Given the description of an element on the screen output the (x, y) to click on. 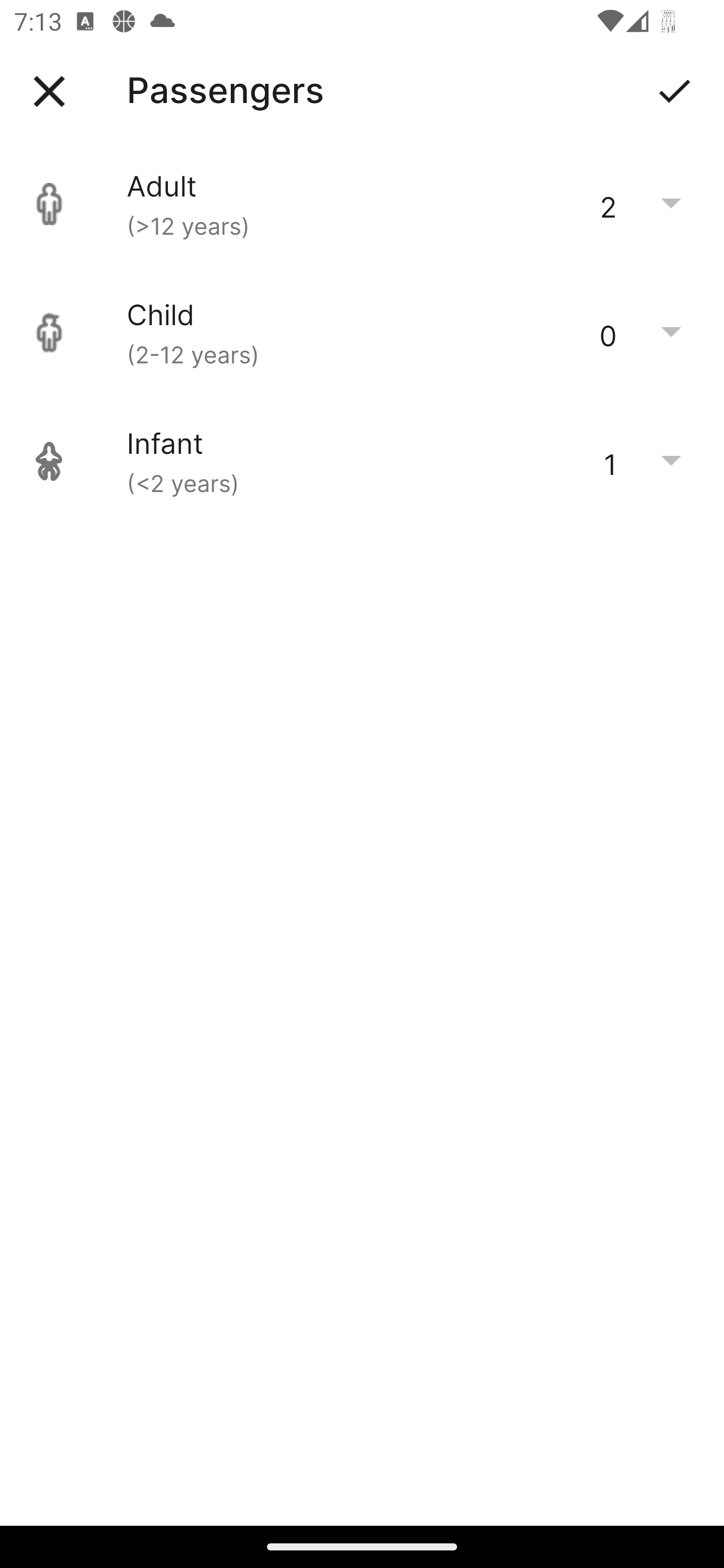
Adult (>12 years) 2 (362, 204)
Child (2-12 years) 0 (362, 332)
Infant (<2 years) 1 (362, 461)
